Given the description of an element on the screen output the (x, y) to click on. 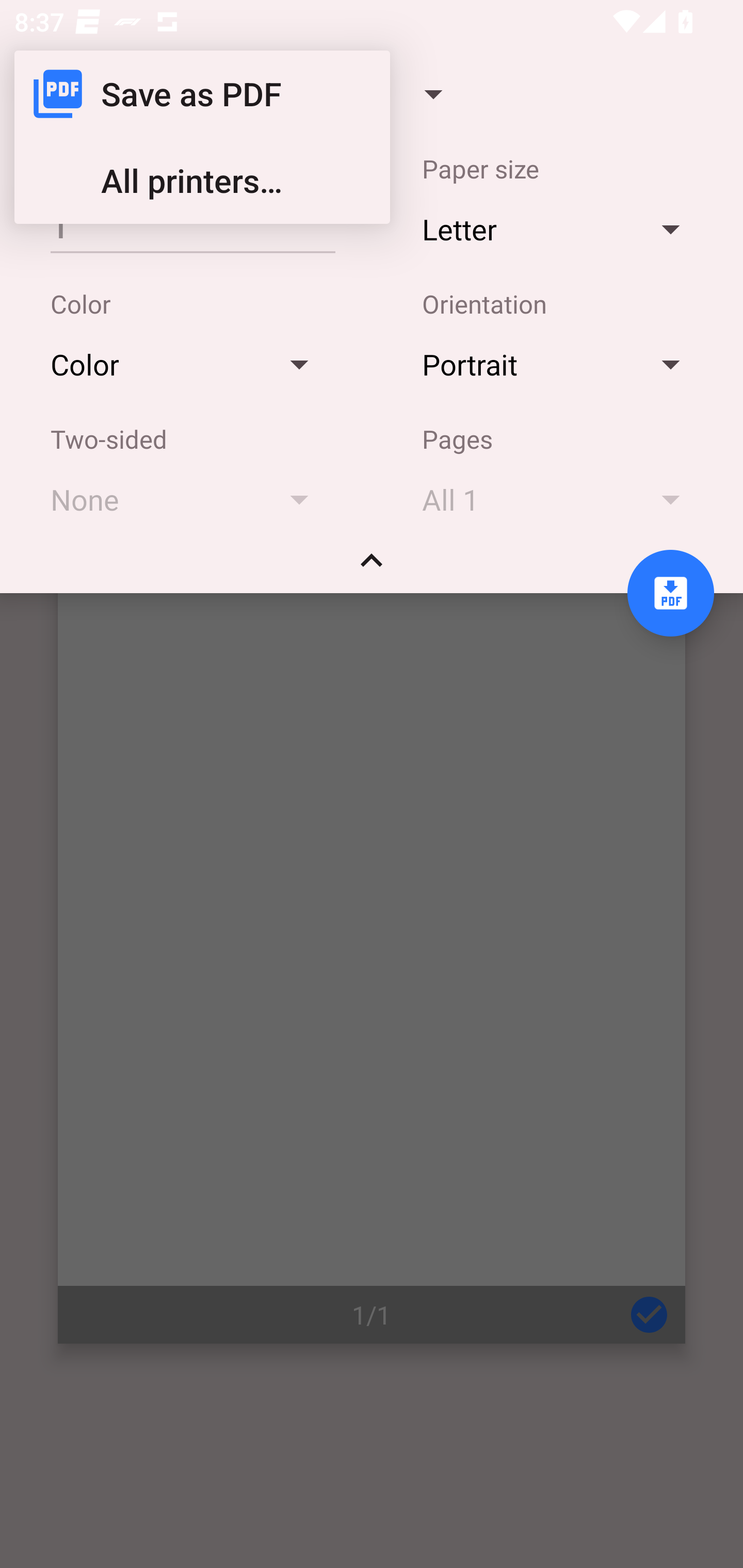
Save as PDF (202, 93)
All printers… (202, 180)
